Given the description of an element on the screen output the (x, y) to click on. 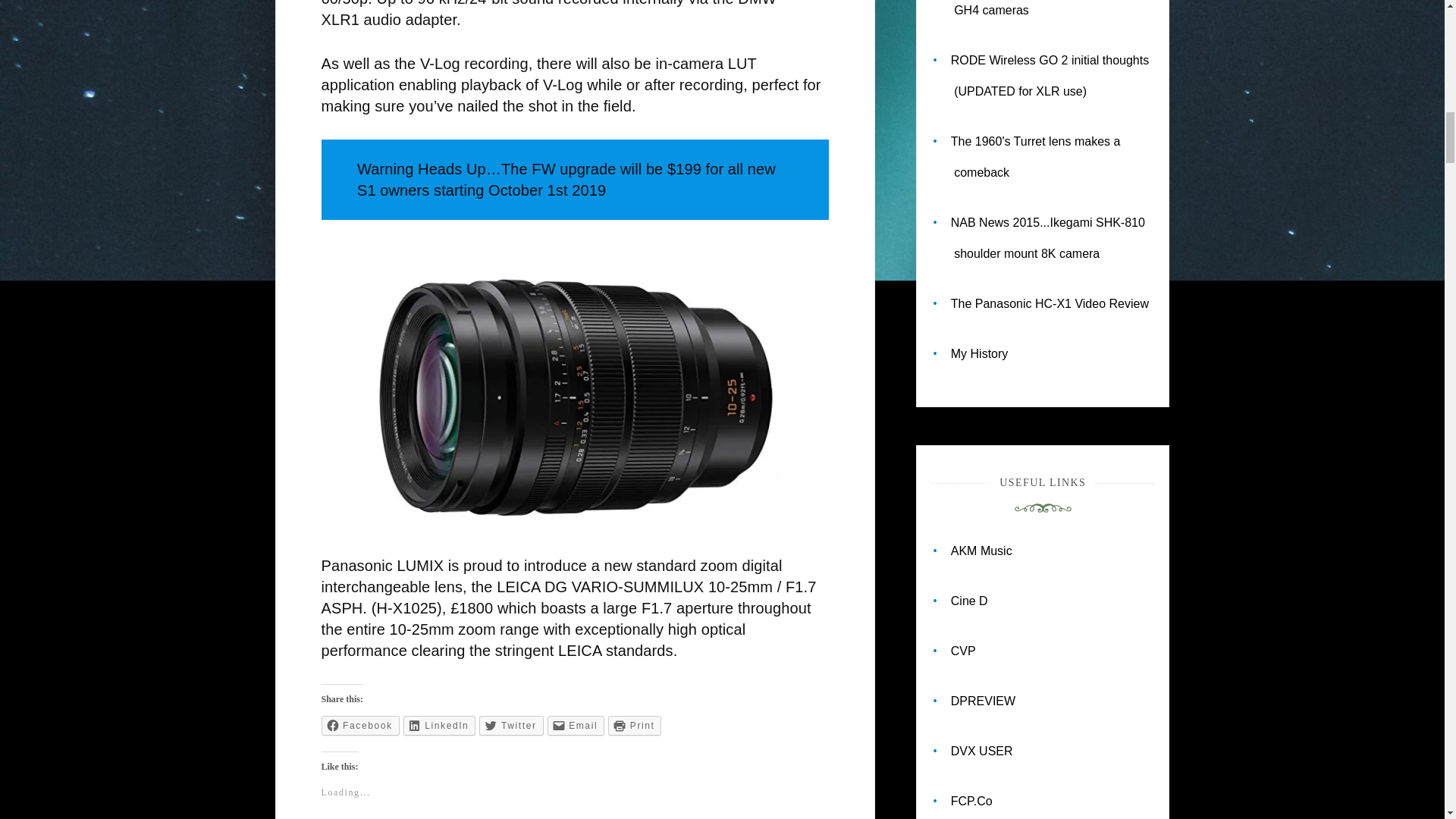
Click to share on Twitter (511, 725)
Online Community for Filmmaking (981, 750)
The Panasonic HC-X1 Video Review (1049, 303)
Print (634, 725)
FCPX information (971, 800)
The best review site for photographic equipment (982, 700)
Royalty free music (980, 550)
Click to print (634, 725)
My History (979, 353)
Click to share on LinkedIn (439, 725)
Click to email a link to a friend (576, 725)
Twitter (511, 725)
Click to share on Facebook (359, 725)
Great resource (969, 600)
LinkedIn (439, 725)
